Given the description of an element on the screen output the (x, y) to click on. 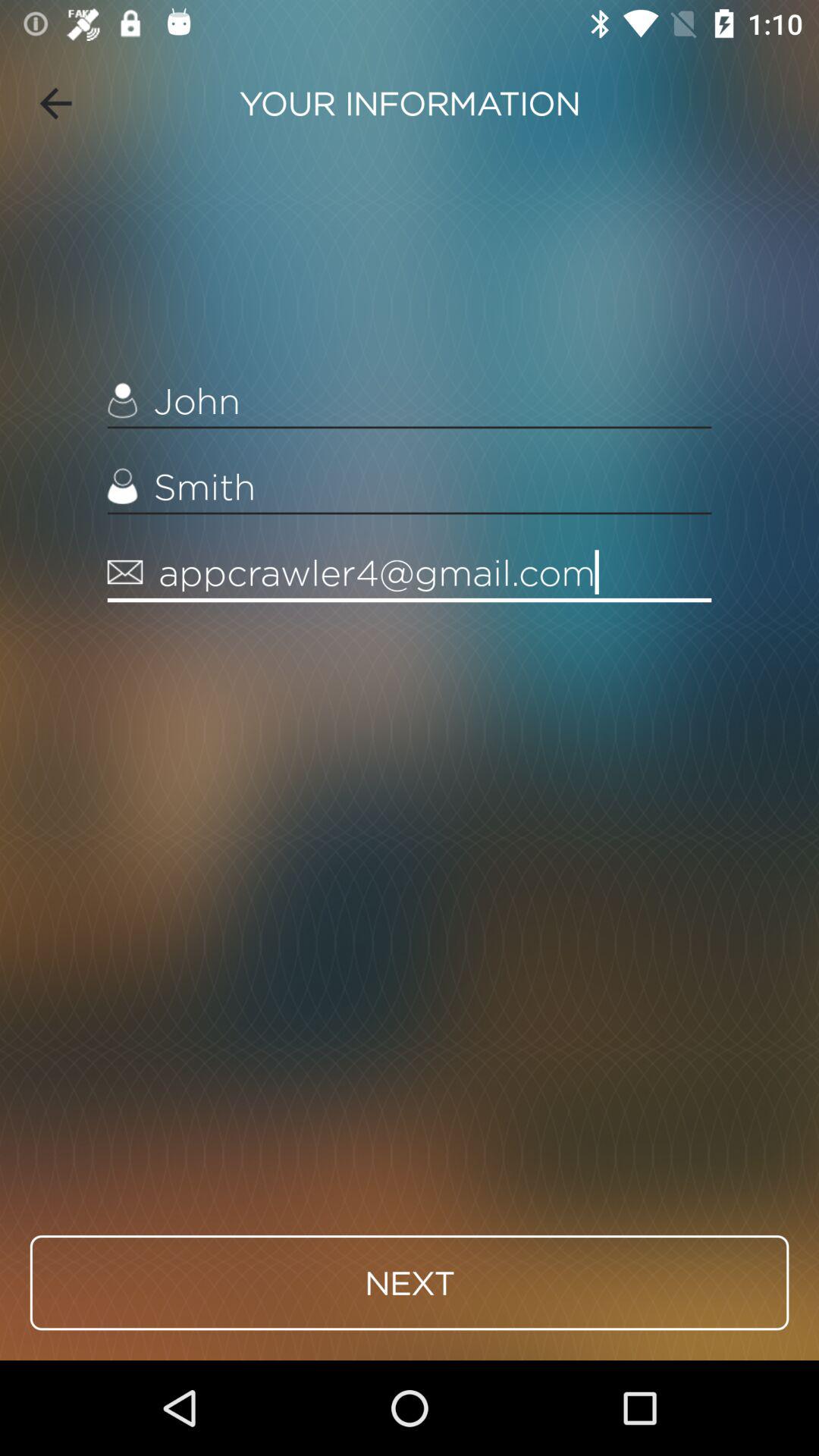
turn on the icon below the appcrawler4@gmail.com icon (409, 1282)
